Given the description of an element on the screen output the (x, y) to click on. 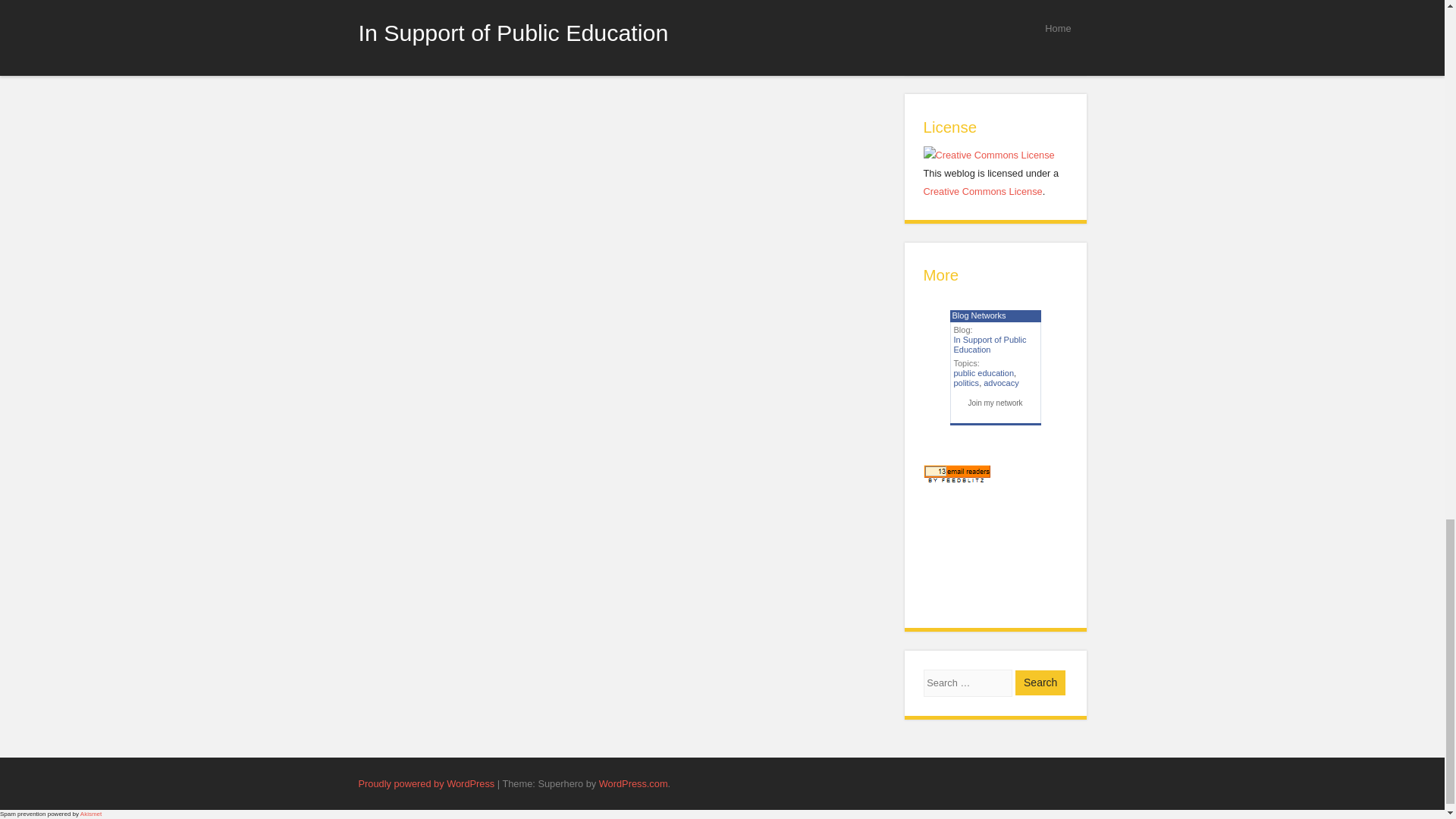
Creative Commons License (982, 191)
WordPress.com (633, 783)
A Semantic Personal Publishing Platform (426, 783)
public education (983, 372)
politics (966, 382)
Subscribe to get updates by email, IM and more! (956, 474)
Search (1039, 682)
Blog Networks (979, 315)
advocacy (1000, 382)
Akismet (90, 813)
In Support of Public Education (989, 343)
Proudly powered by WordPress (426, 783)
Join my network (995, 402)
Join the Blue Ribbon Online Free Speech Campaign! (995, 24)
Search (1039, 682)
